Given the description of an element on the screen output the (x, y) to click on. 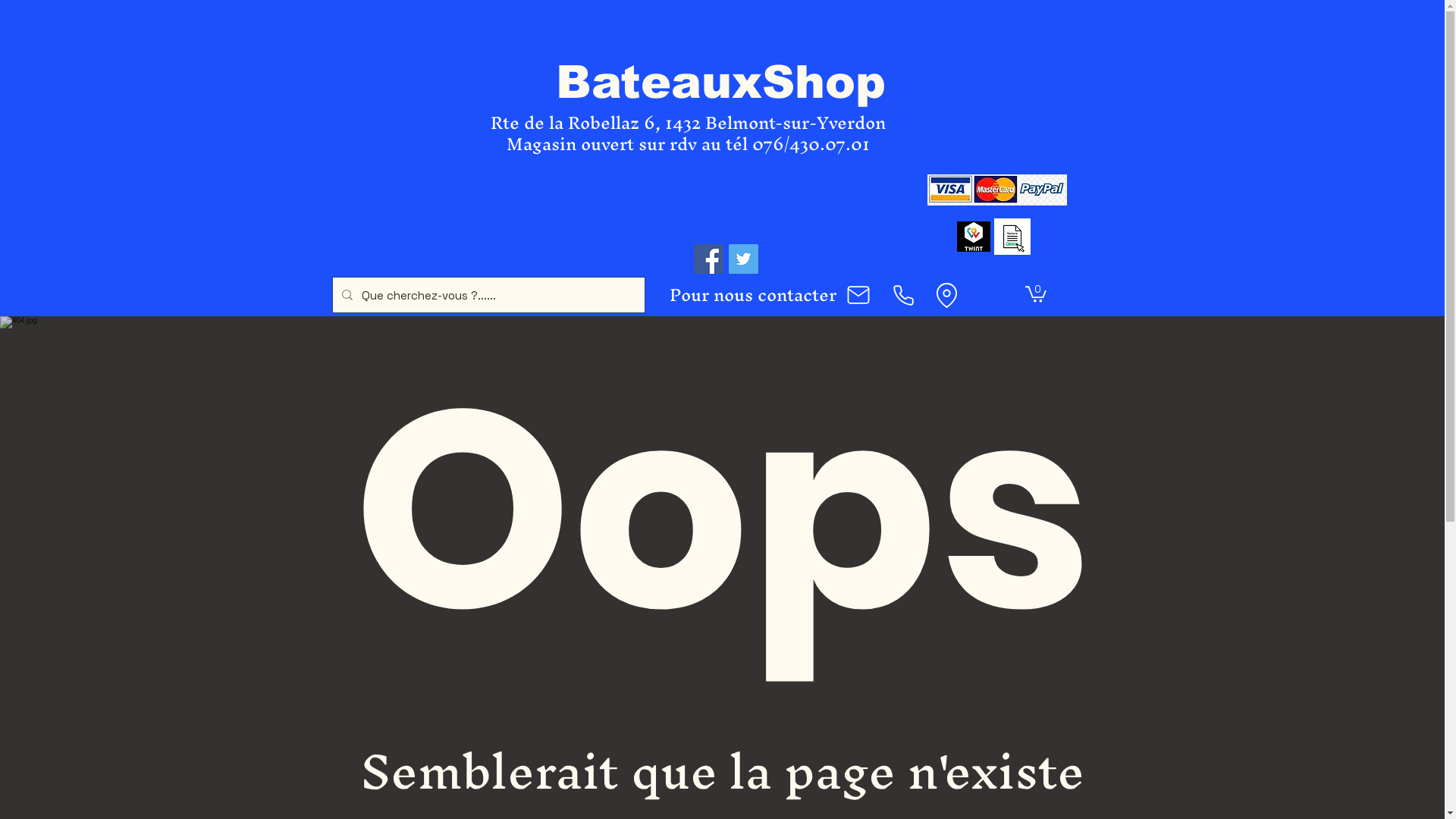
0 Element type: text (1035, 293)
